Given the description of an element on the screen output the (x, y) to click on. 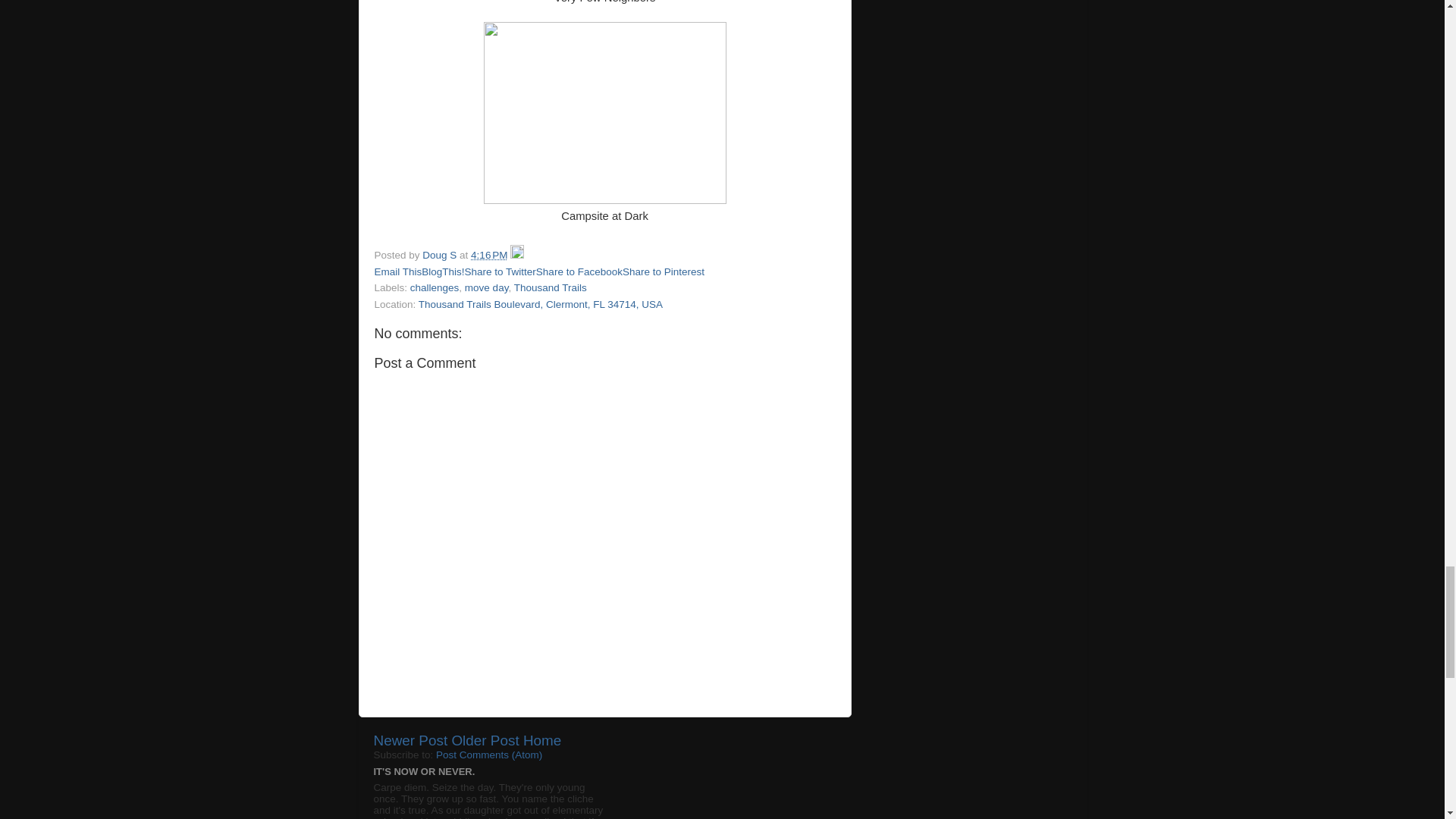
Share to Facebook (579, 271)
Email This (398, 271)
Share to Facebook (579, 271)
Thousand Trails (549, 287)
Email This (398, 271)
Older Post (484, 740)
BlogThis! (443, 271)
BlogThis! (443, 271)
Newer Post (409, 740)
Doug S (441, 255)
move day (486, 287)
Share to Pinterest (663, 271)
Thousand Trails Boulevard, Clermont, FL 34714, USA (540, 304)
Edit Post (517, 255)
